Given the description of an element on the screen output the (x, y) to click on. 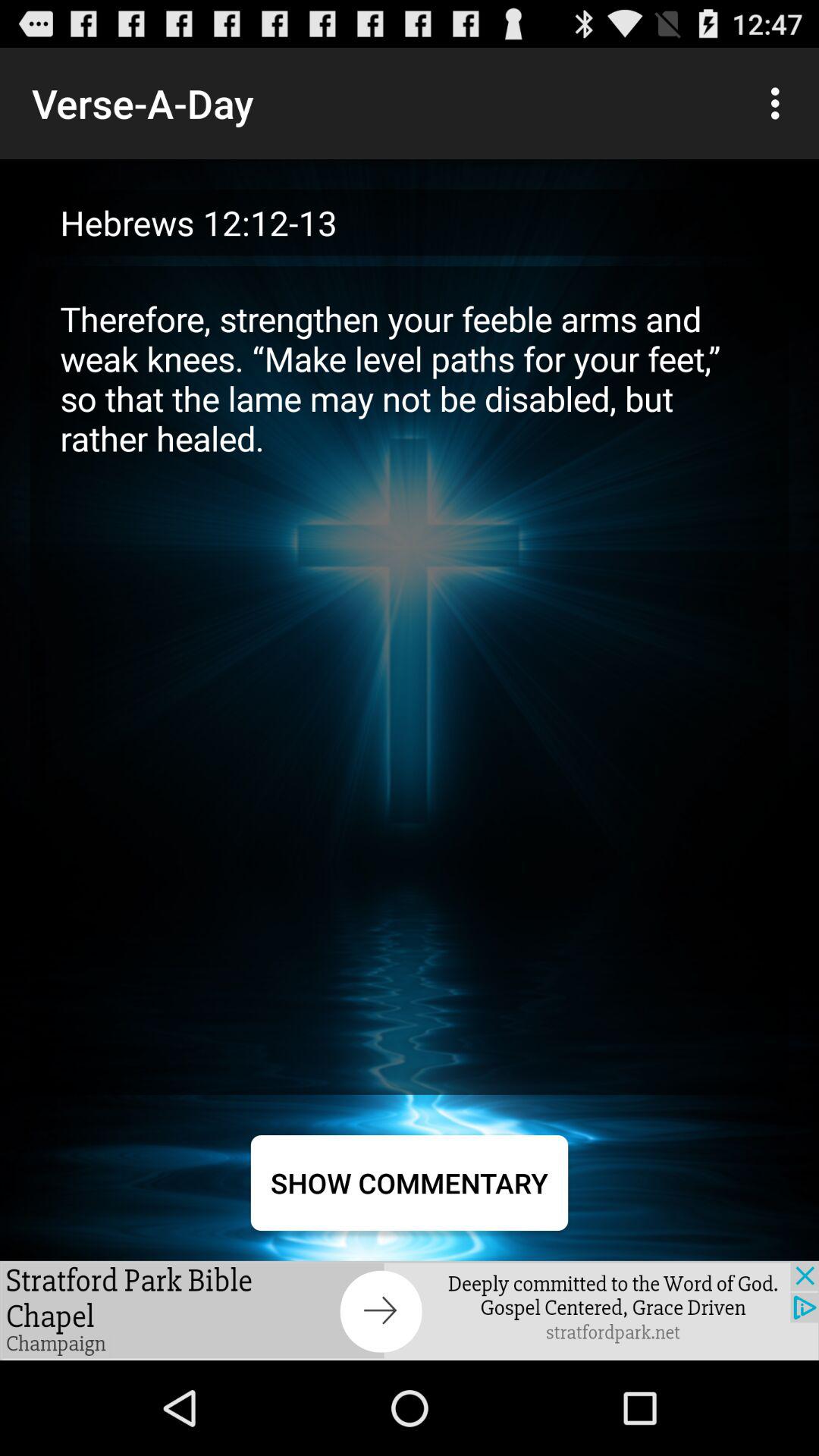
choose the therefore strengthen your icon (409, 680)
